Given the description of an element on the screen output the (x, y) to click on. 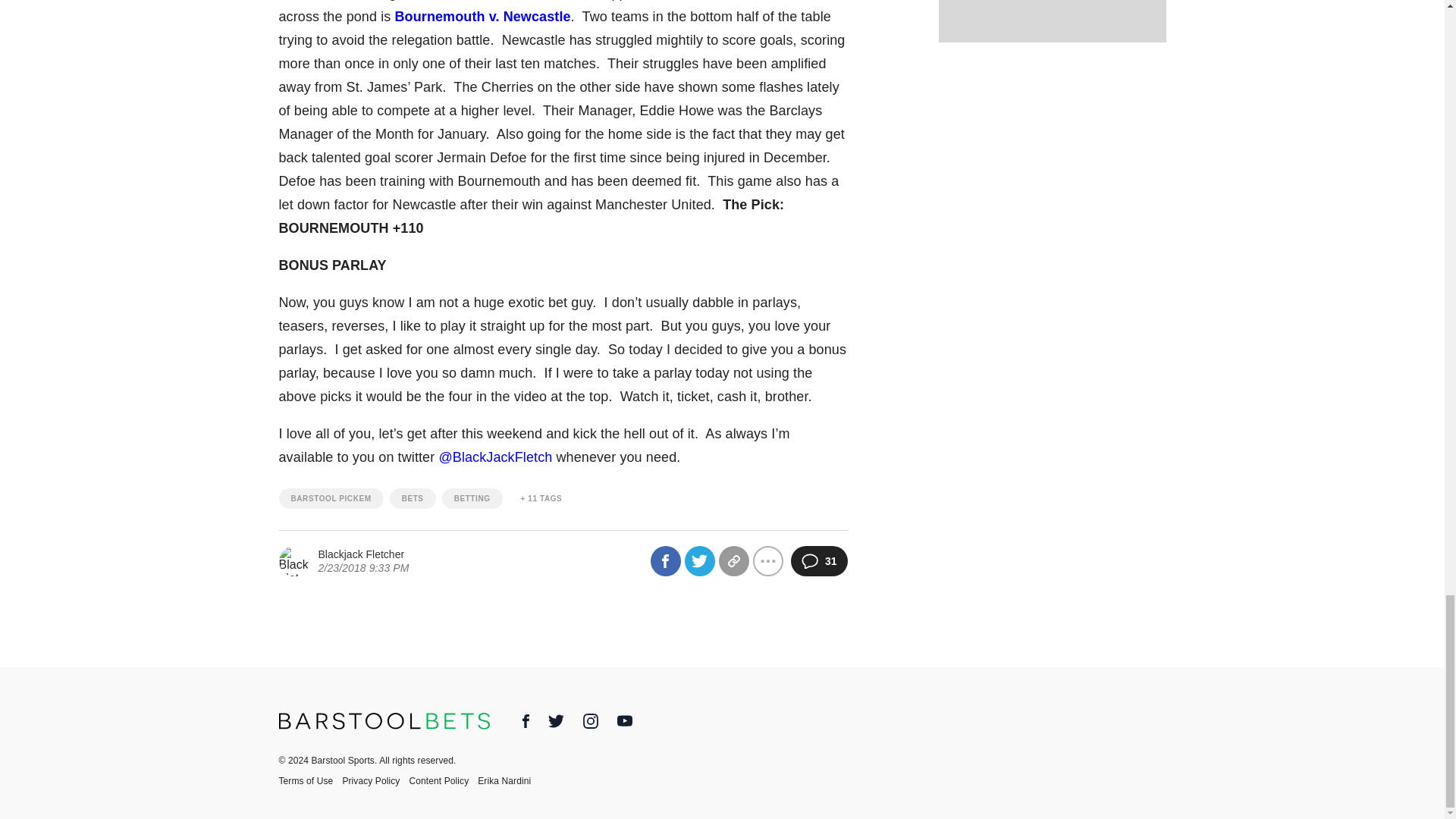
Twitter (555, 720)
BARSTOOL PICKEM (331, 498)
Erika Nardini (508, 780)
Instagram (590, 720)
BETS (412, 498)
Terms of Use (310, 780)
Instagram (590, 724)
YouTube (624, 722)
31 (818, 561)
YouTube (624, 720)
Twitter (556, 724)
Privacy Policy (375, 780)
Bournemouth v. Newcastle (482, 16)
Content Policy (443, 780)
BETTING (472, 498)
